Given the description of an element on the screen output the (x, y) to click on. 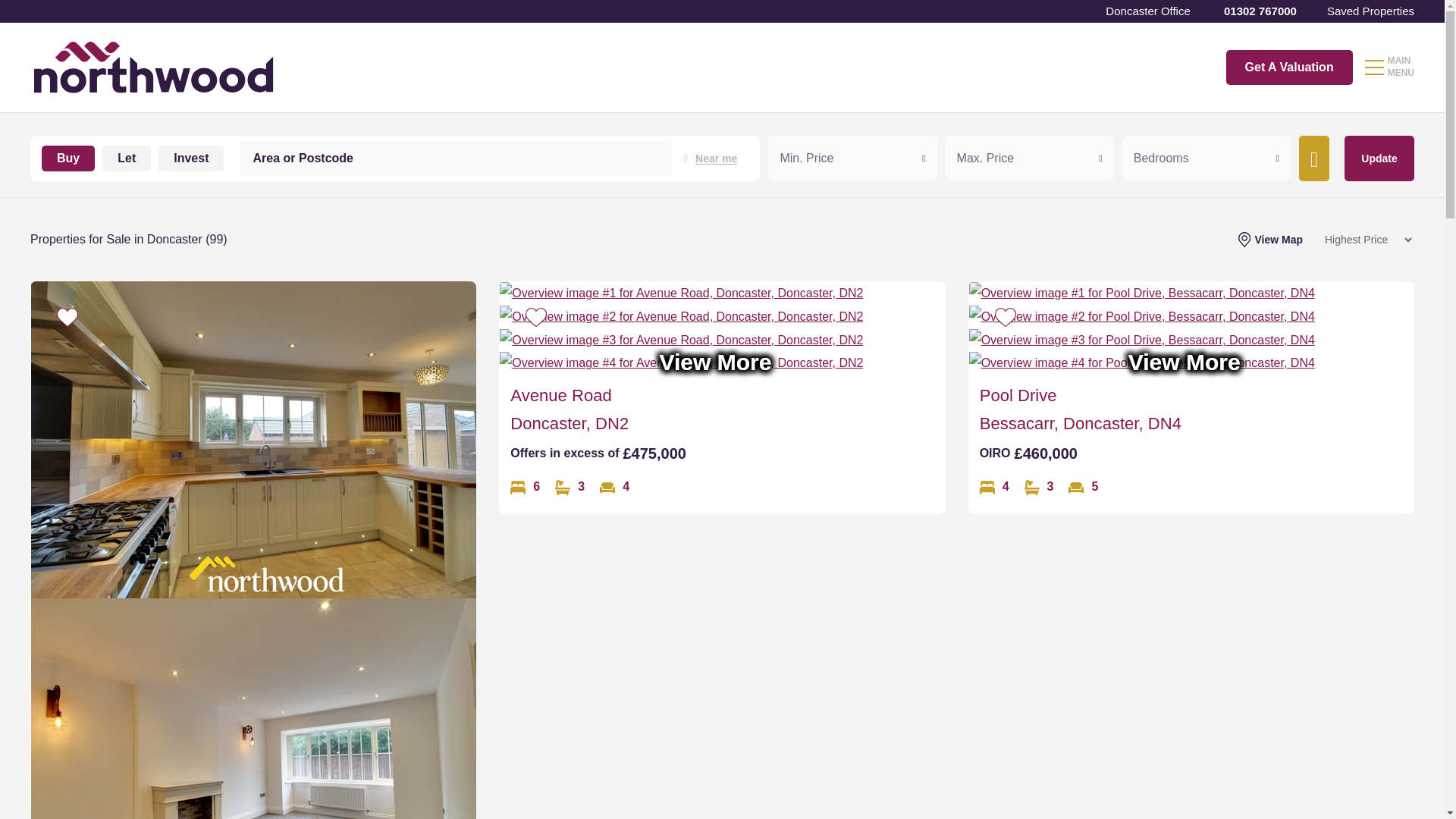
Public Rooms (613, 487)
Bathrooms (1039, 487)
01302 767000 (1259, 10)
Saved Properties (1369, 10)
Bedrooms (525, 487)
Public Rooms (1082, 487)
Bathrooms (569, 487)
Bedrooms (994, 487)
